Given the description of an element on the screen output the (x, y) to click on. 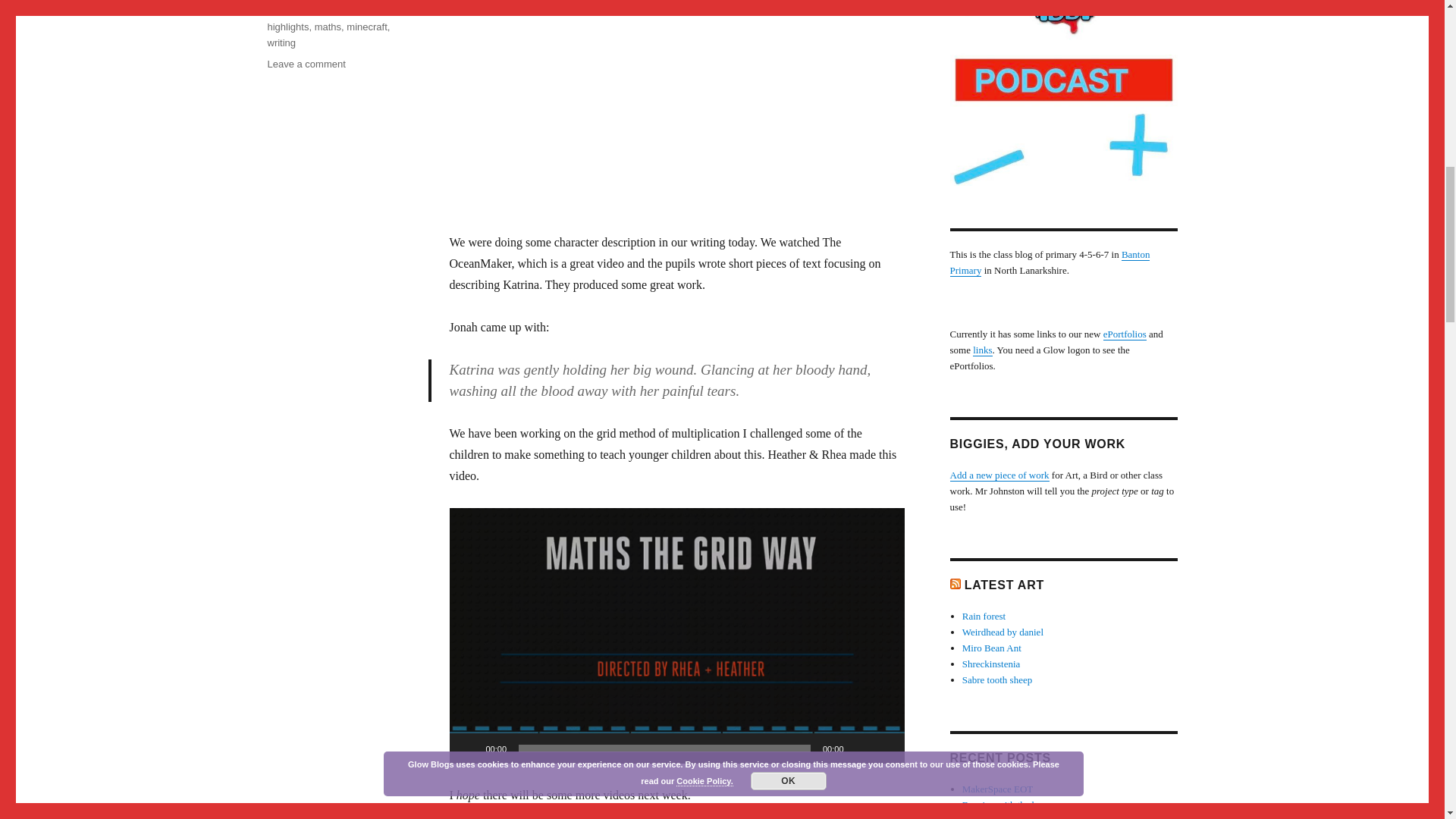
writing (280, 42)
minecraft (305, 63)
highlights (366, 26)
maths (287, 26)
Play (327, 26)
Mute (468, 748)
Highlights (859, 748)
Fullscreen (288, 5)
